Given the description of an element on the screen output the (x, y) to click on. 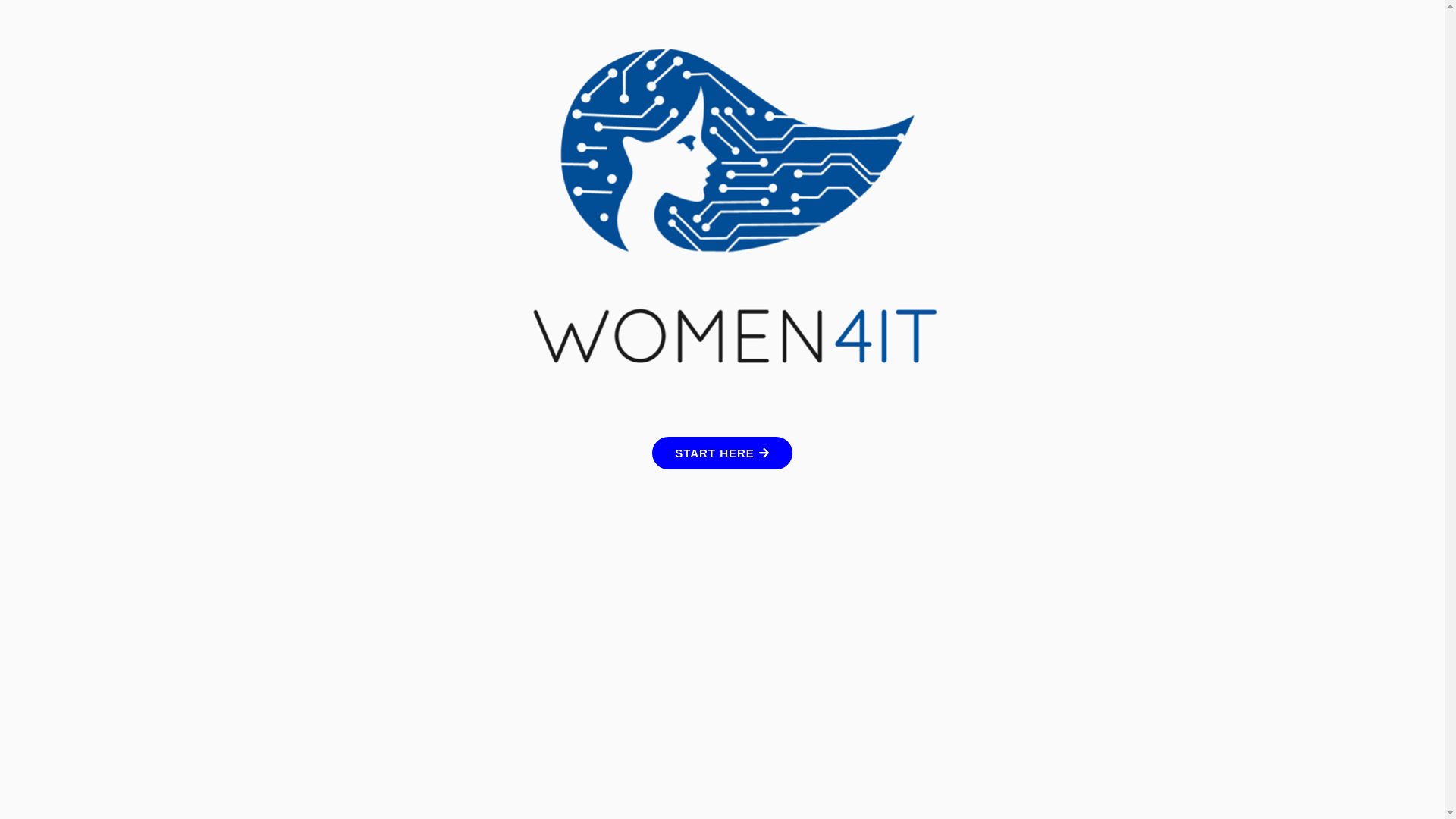
START HERE Element type: text (722, 452)
